Given the description of an element on the screen output the (x, y) to click on. 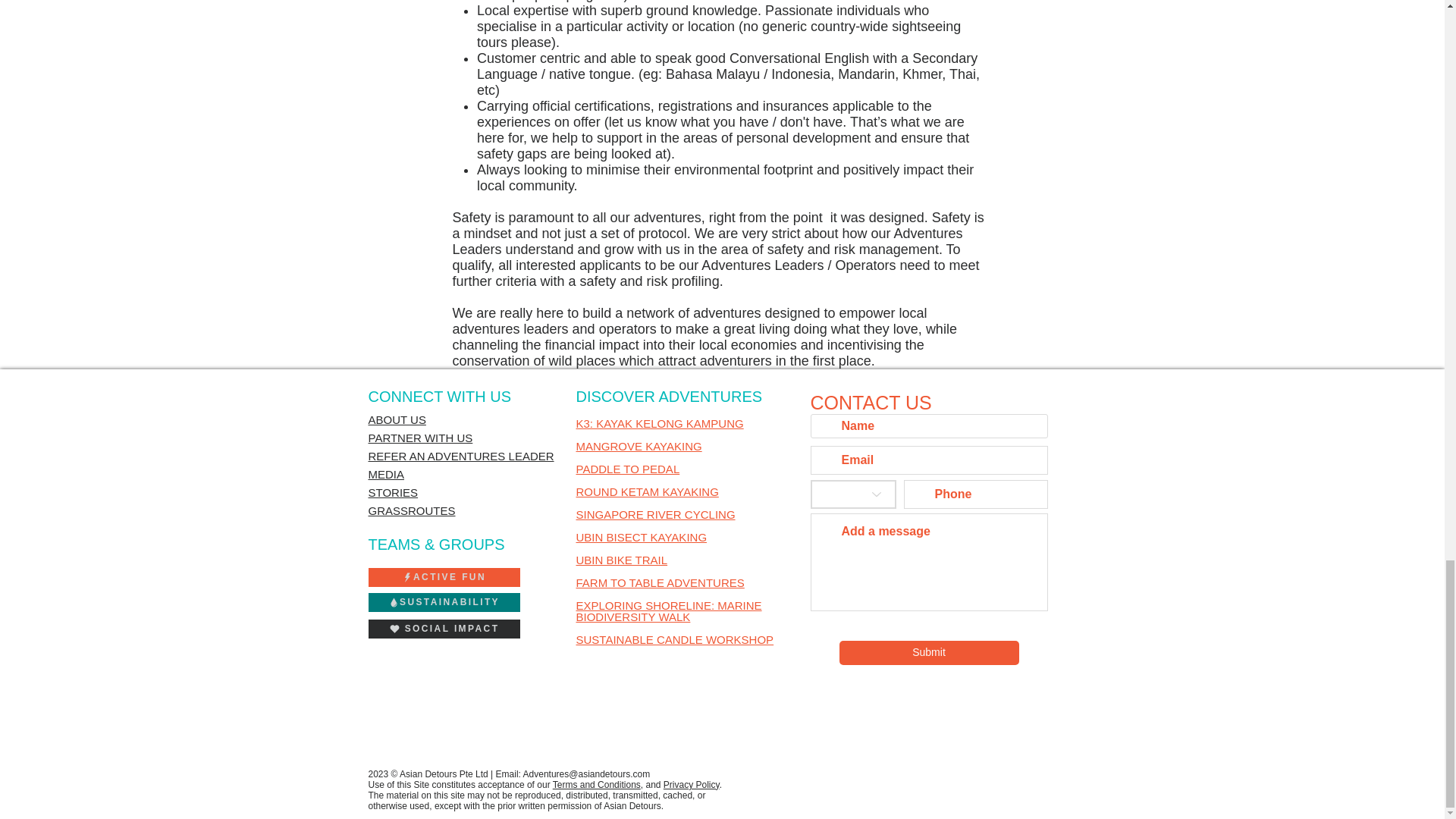
Privacy Policy (691, 784)
K3: KAYAK KELONG KAMPUNG (660, 422)
GRASSROUTES (411, 510)
SOCIAL IMPACT (443, 628)
STORIES (393, 492)
Terms and Conditions (596, 784)
FARM TO TABLE ADVENTURES (660, 582)
ROUND KETAM KAYAKING (647, 491)
EXPLORING SHORELINE: MARINE BIODIVERSITY WALK (668, 610)
DISCOVER ADVENTURES (669, 396)
